Given the description of an element on the screen output the (x, y) to click on. 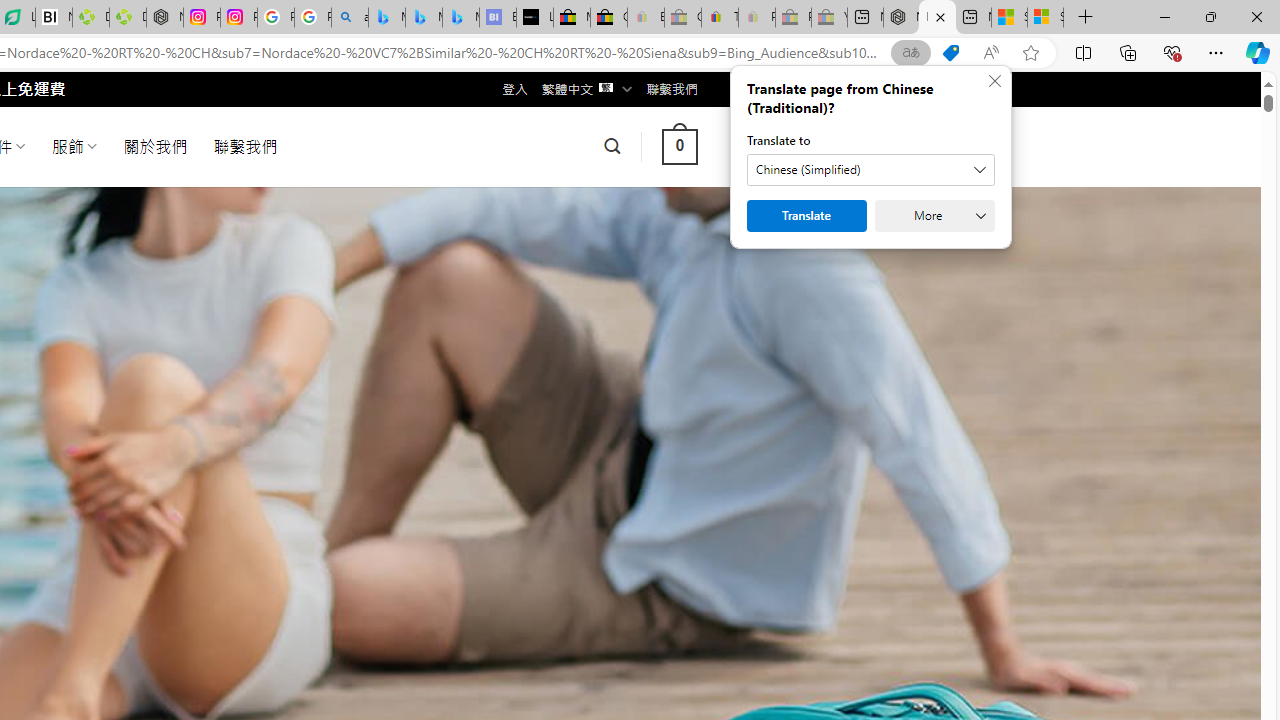
More (934, 215)
Show translate options (910, 53)
Translate (806, 215)
alabama high school quarterback dies - Search (349, 17)
Translate to (870, 169)
Nordace - Nordace Edin Collection (165, 17)
 0  (679, 146)
